Given the description of an element on the screen output the (x, y) to click on. 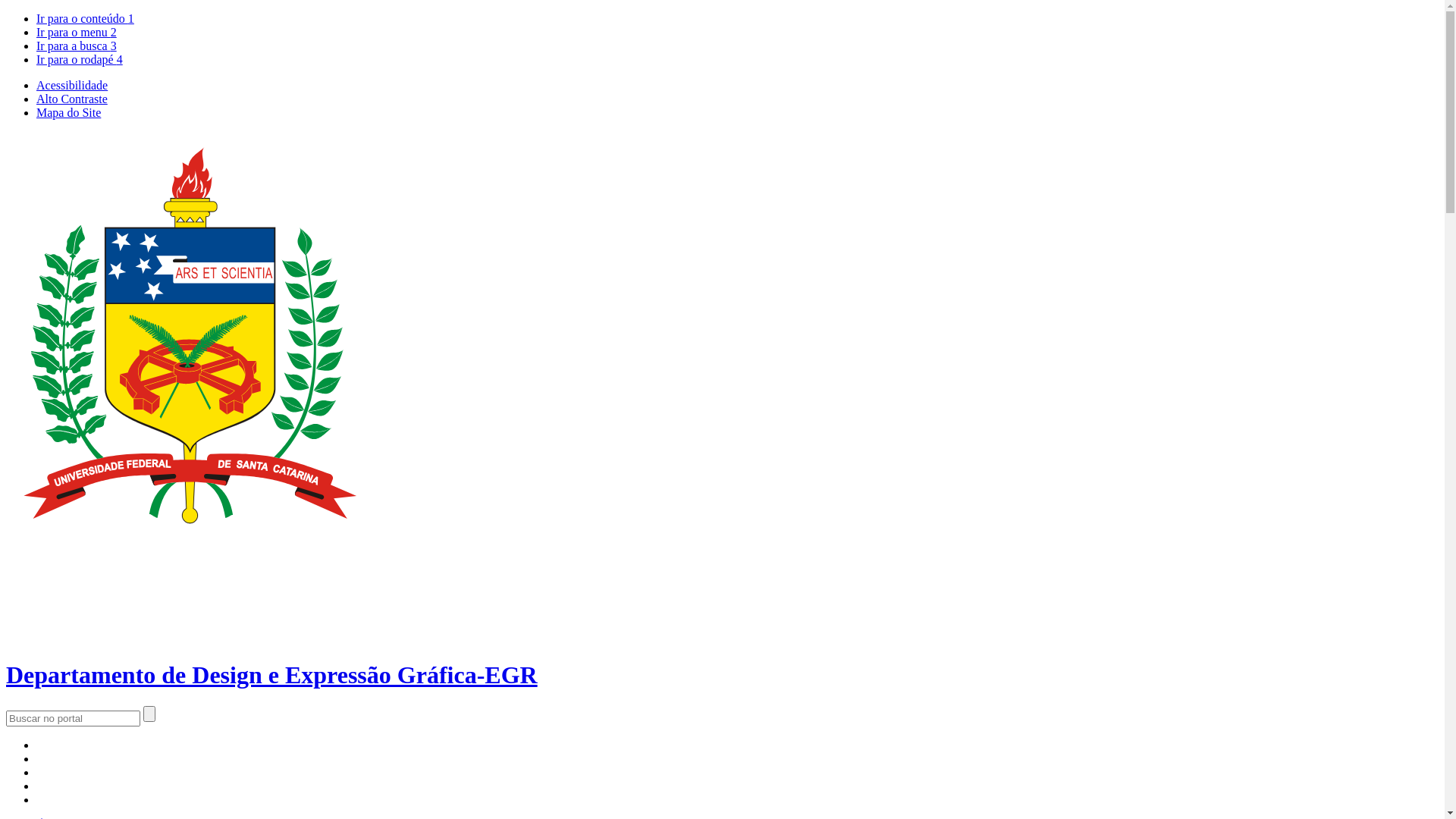
Ir para o menu 2 Element type: text (76, 31)
Ir para a busca 3 Element type: text (76, 45)
Acessibilidade Element type: text (71, 84)
Mapa do Site Element type: text (68, 112)
Alto Contraste Element type: text (71, 98)
